Given the description of an element on the screen output the (x, y) to click on. 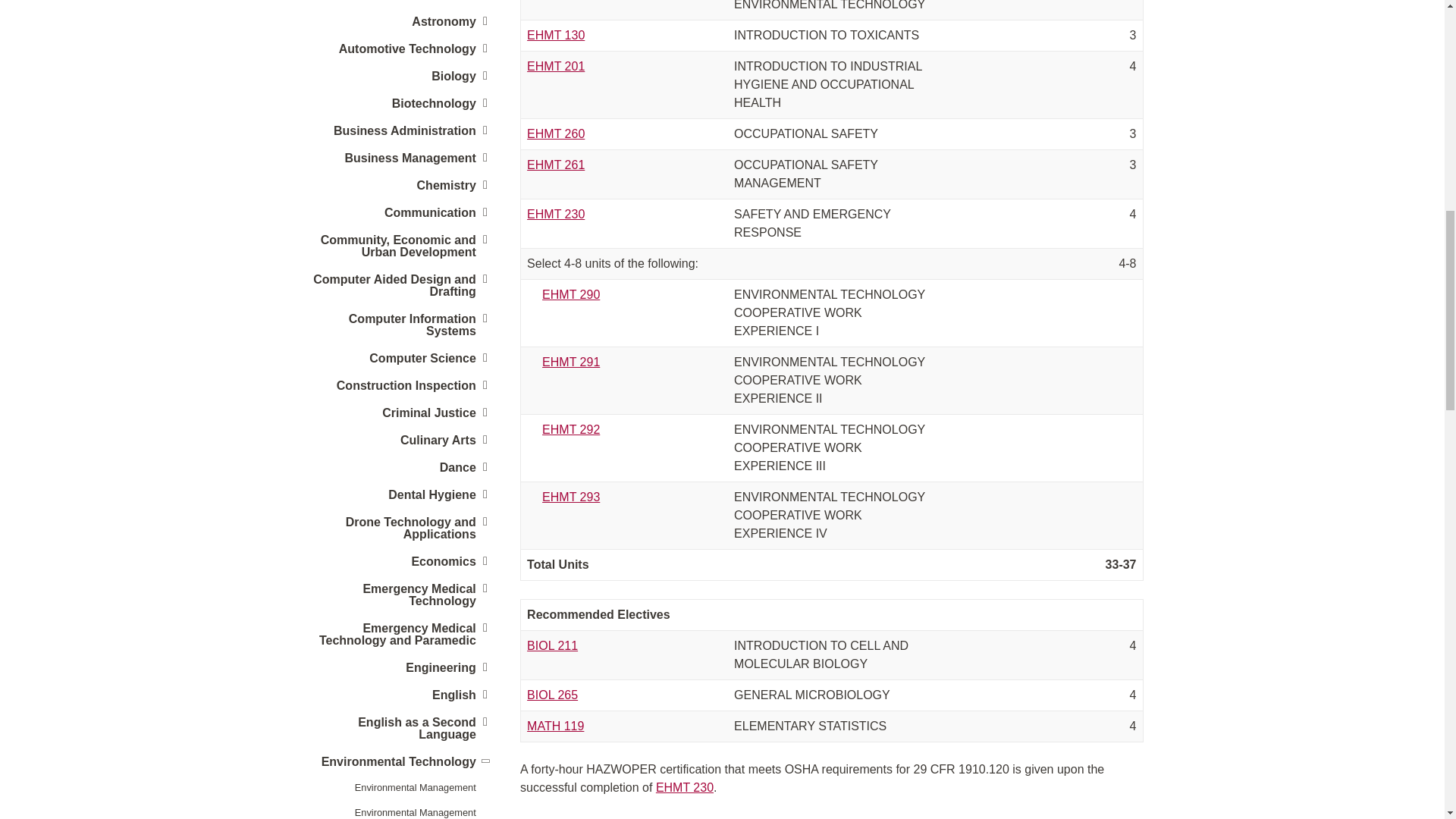
Computer Aided Design and Drafting (398, 285)
